Given the description of an element on the screen output the (x, y) to click on. 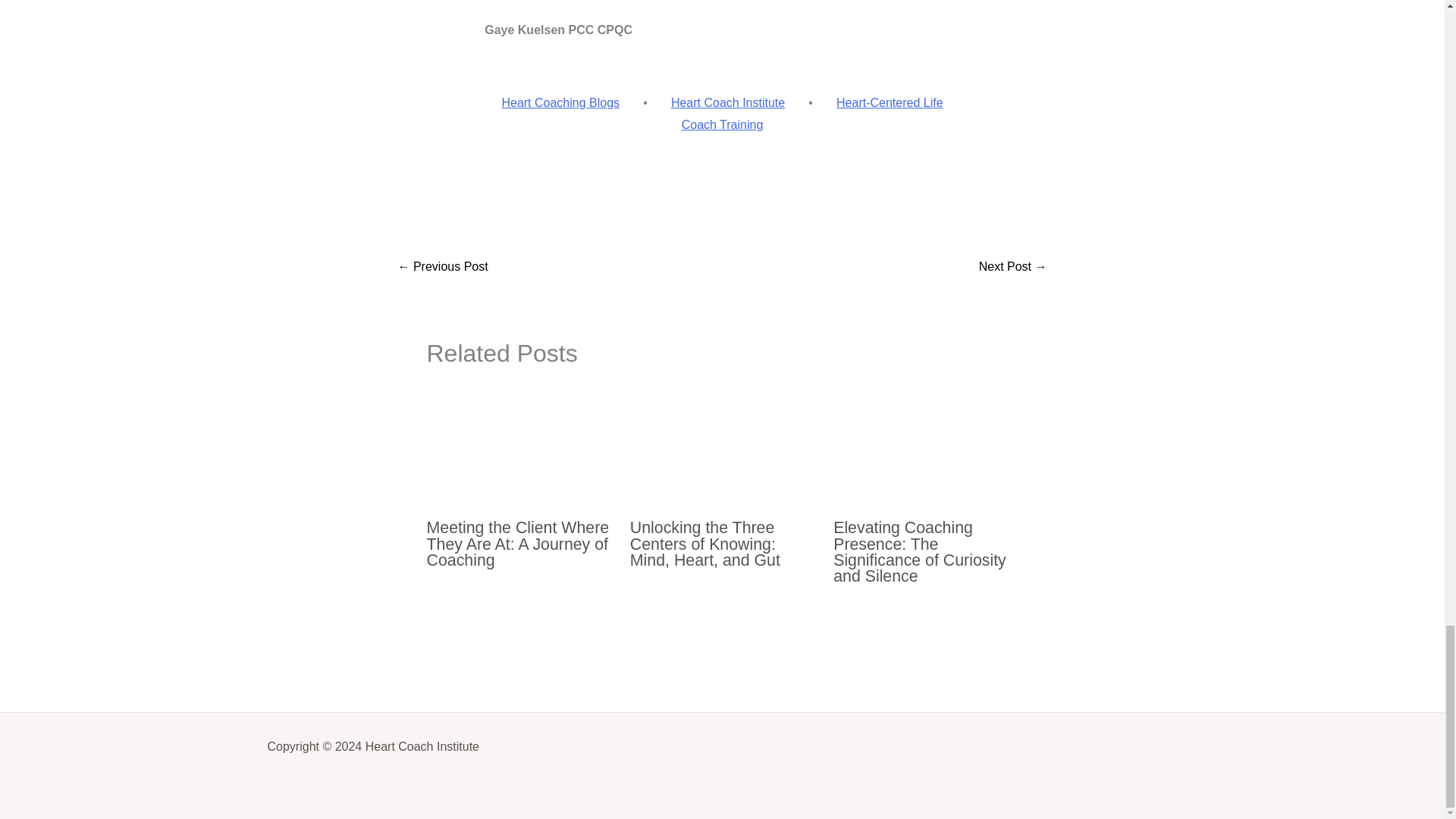
Solid Foundations - Crafting Effective Coaching Agreements (442, 267)
Accepting of our Trials (1012, 267)
Heart Coaching Blogs (560, 102)
